Given the description of an element on the screen output the (x, y) to click on. 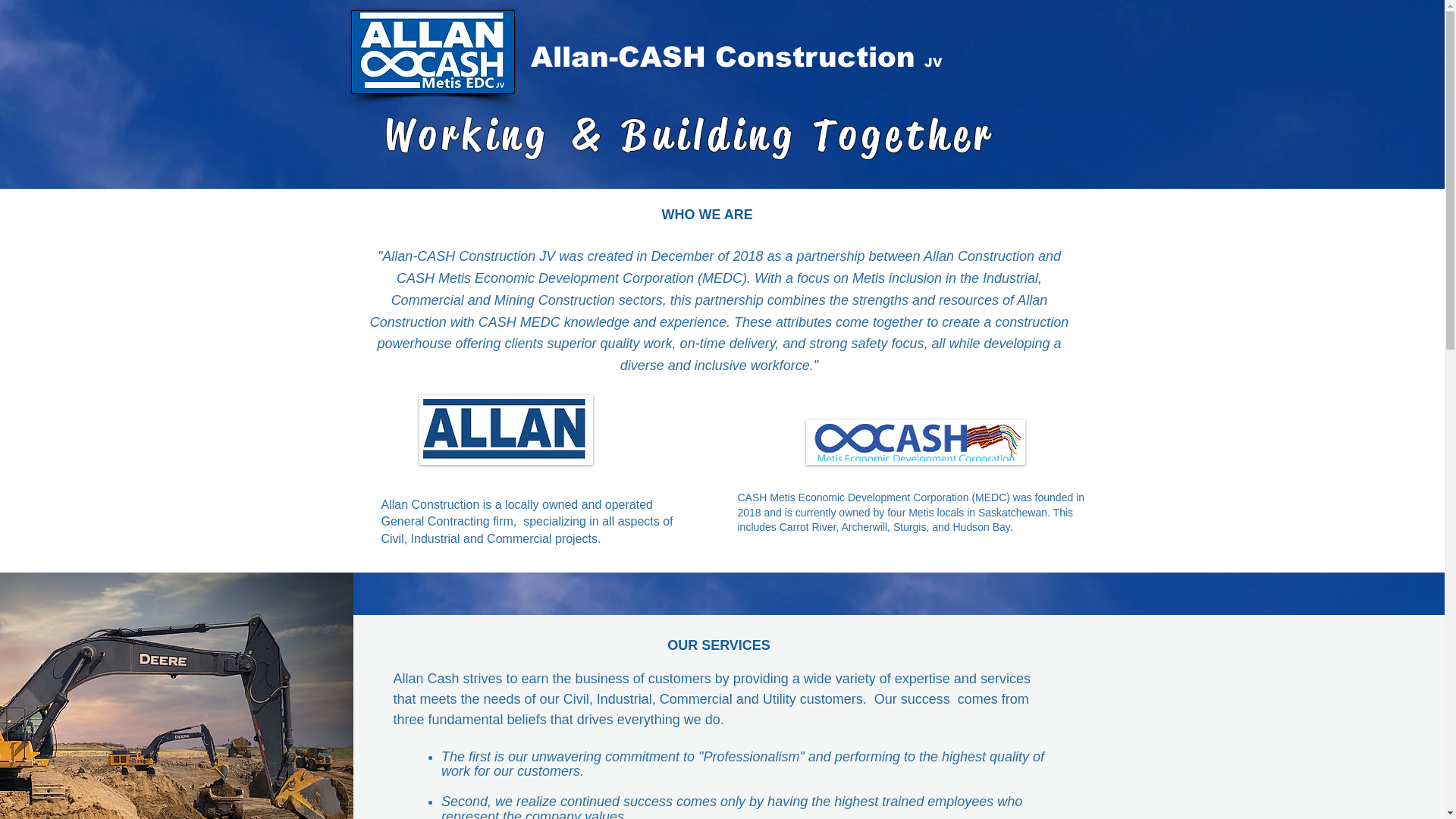
Allanlogo.jpg Element type: hover (505, 429)
CASH LOGO-.png Element type: hover (914, 442)
